Given the description of an element on the screen output the (x, y) to click on. 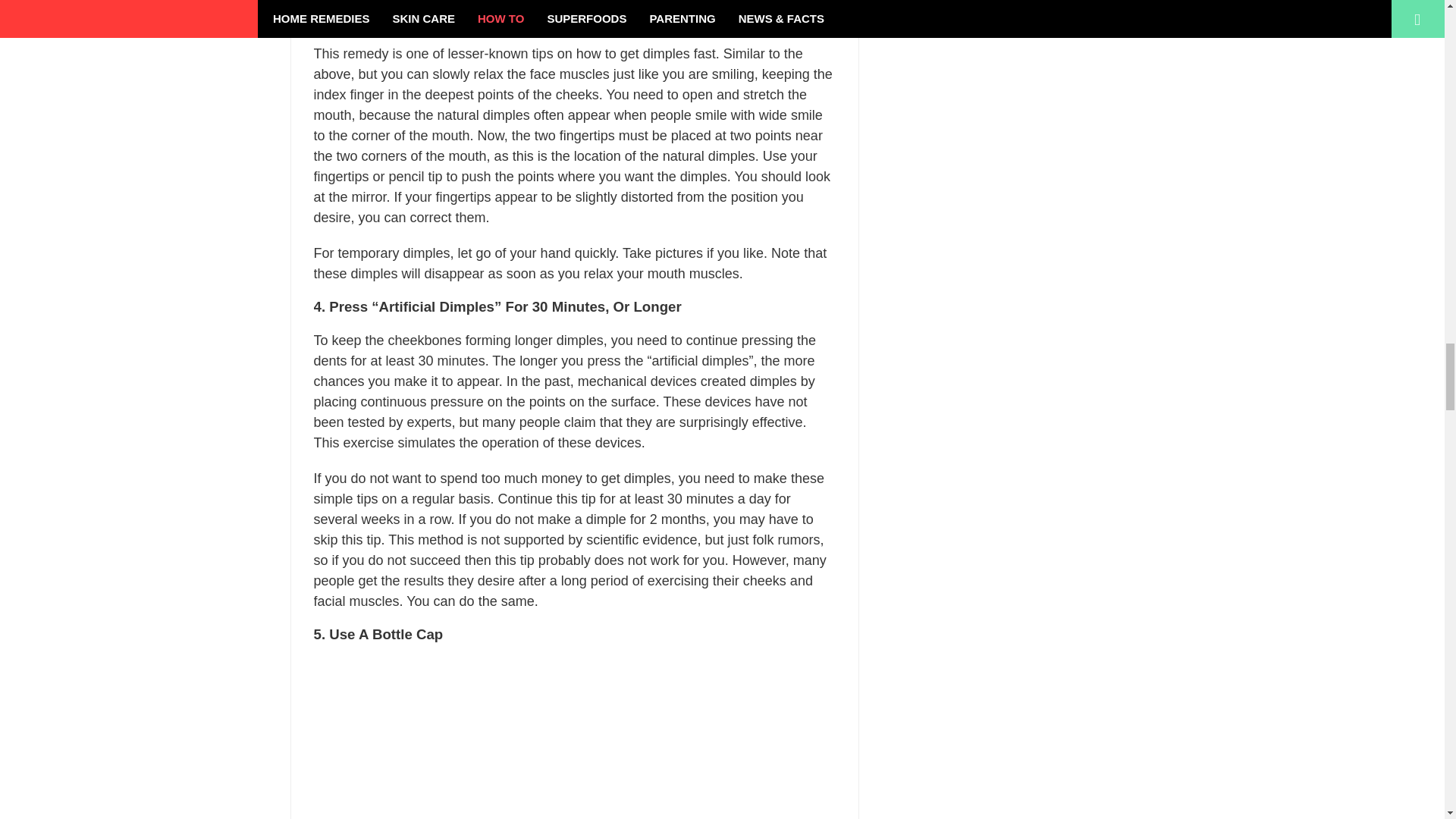
how to get dimples fast - use a bottle cap (574, 738)
